Given the description of an element on the screen output the (x, y) to click on. 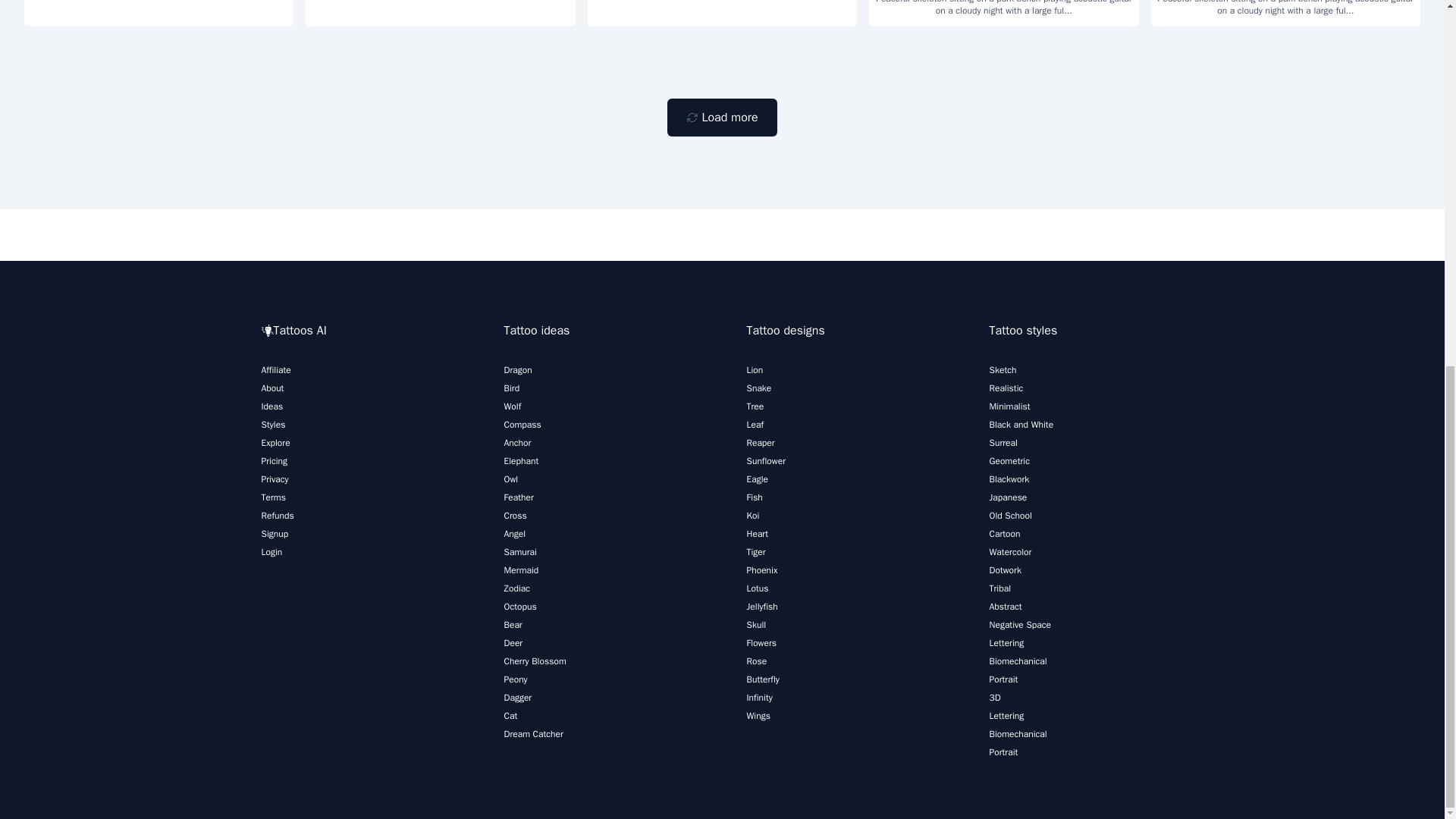
Feather (517, 497)
Signup (274, 533)
Compass (521, 424)
Wolf (512, 406)
Load more (721, 117)
Pricing (273, 460)
About (271, 387)
Refunds (277, 515)
Ideas (271, 406)
